Given the description of an element on the screen output the (x, y) to click on. 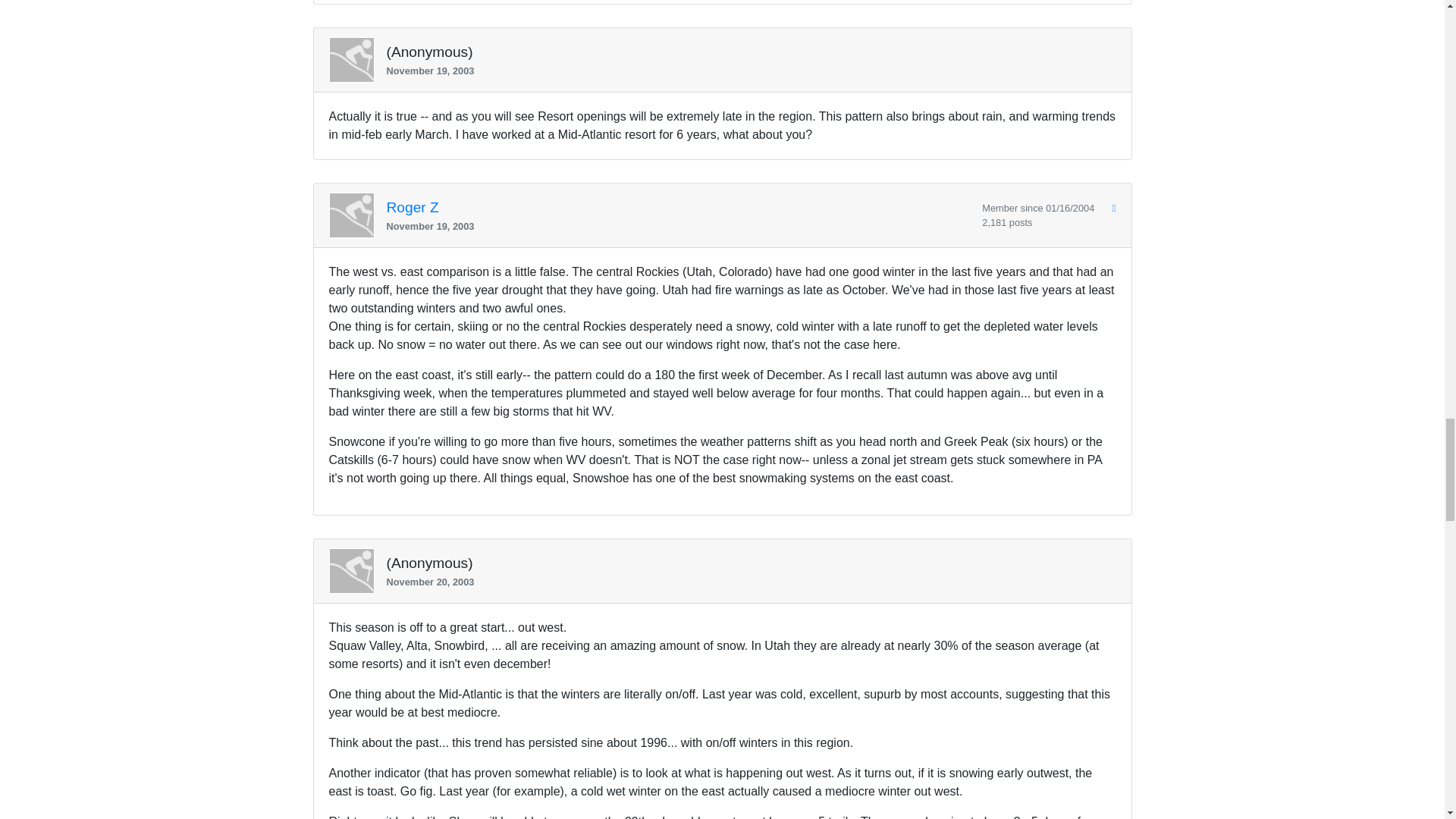
November 19, 2003 at 08:48 pm (679, 226)
November 20, 2003 at 12:19 am (745, 581)
November 19, 2003 at 07:58 pm (745, 70)
